Given the description of an element on the screen output the (x, y) to click on. 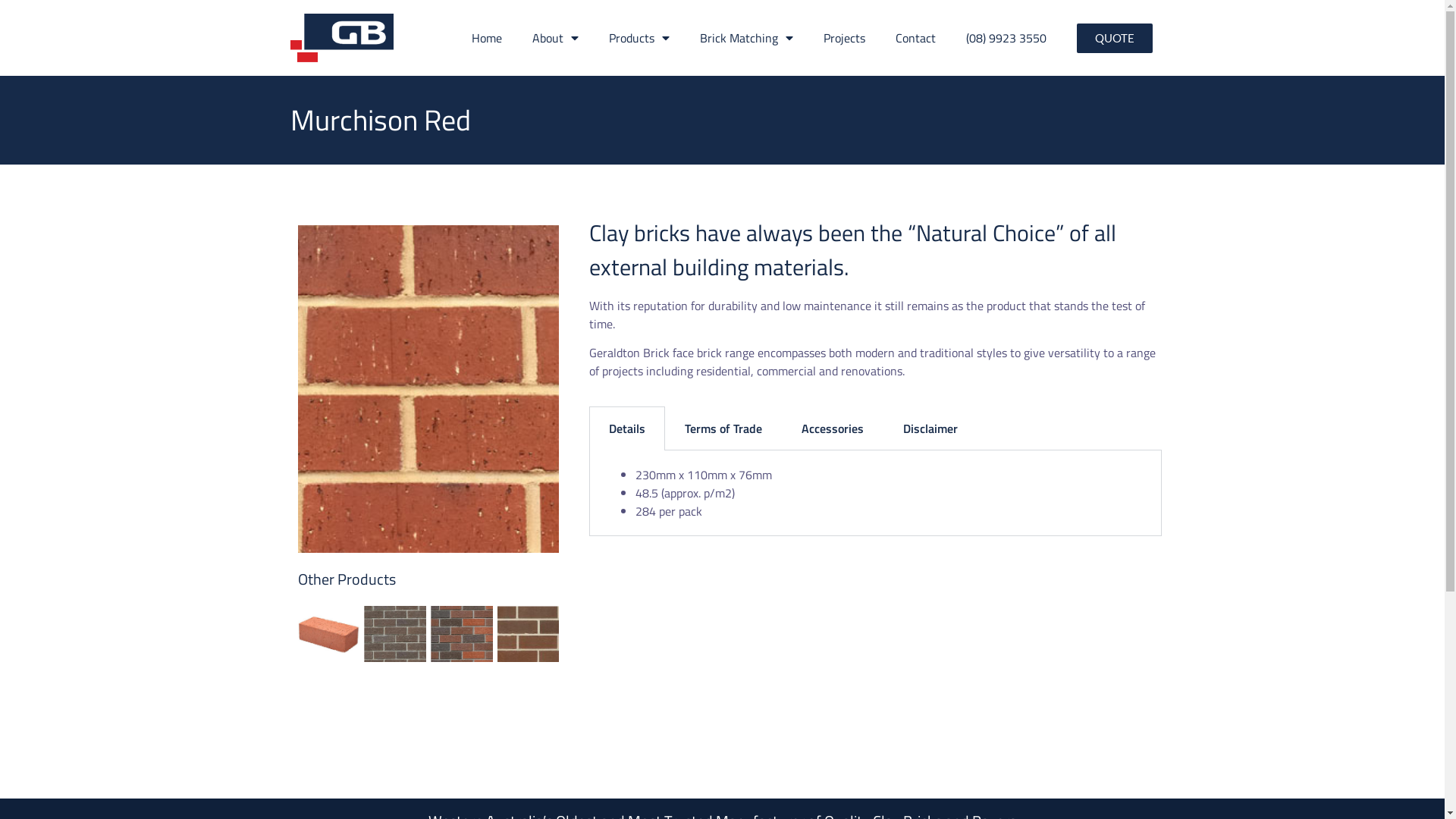
Projects Element type: text (844, 37)
Brick Matching Element type: text (746, 37)
About Element type: text (555, 37)
QUOTE Element type: text (1114, 37)
Home Element type: text (486, 37)
(08) 9923 3550 Element type: text (1005, 37)
Contact Element type: text (915, 37)
Products Element type: text (638, 37)
